Given the description of an element on the screen output the (x, y) to click on. 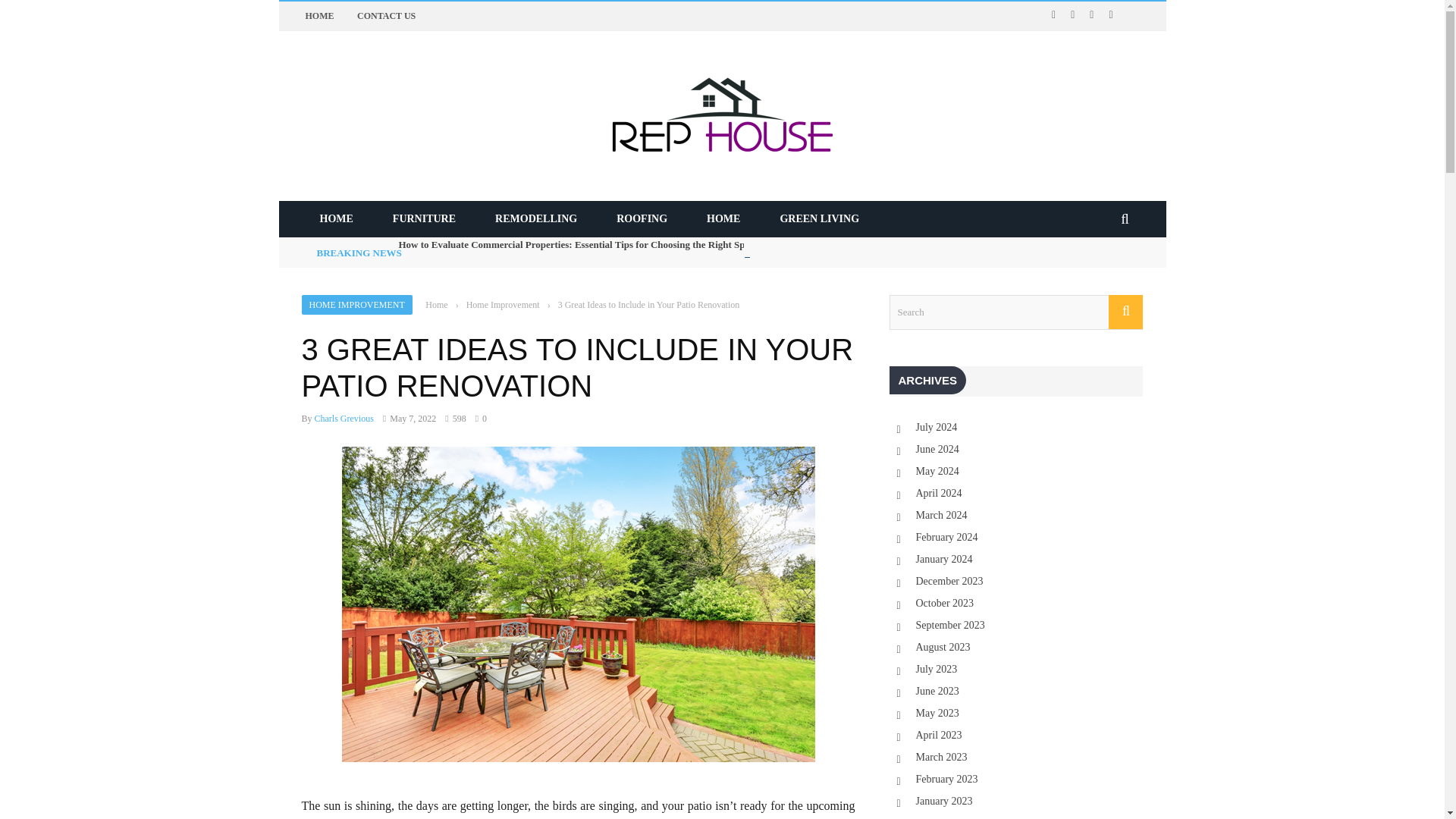
Home (435, 304)
ROOFING (641, 218)
Search (1015, 312)
HOME IMPROVEMENT (356, 304)
HOME (318, 15)
HOME (723, 218)
CONTACT US (385, 15)
FURNITURE (424, 218)
Home Improvement (502, 304)
HOME (336, 218)
Charls Grevious (344, 418)
REMODELLING (536, 218)
GREEN LIVING (819, 218)
